Given the description of an element on the screen output the (x, y) to click on. 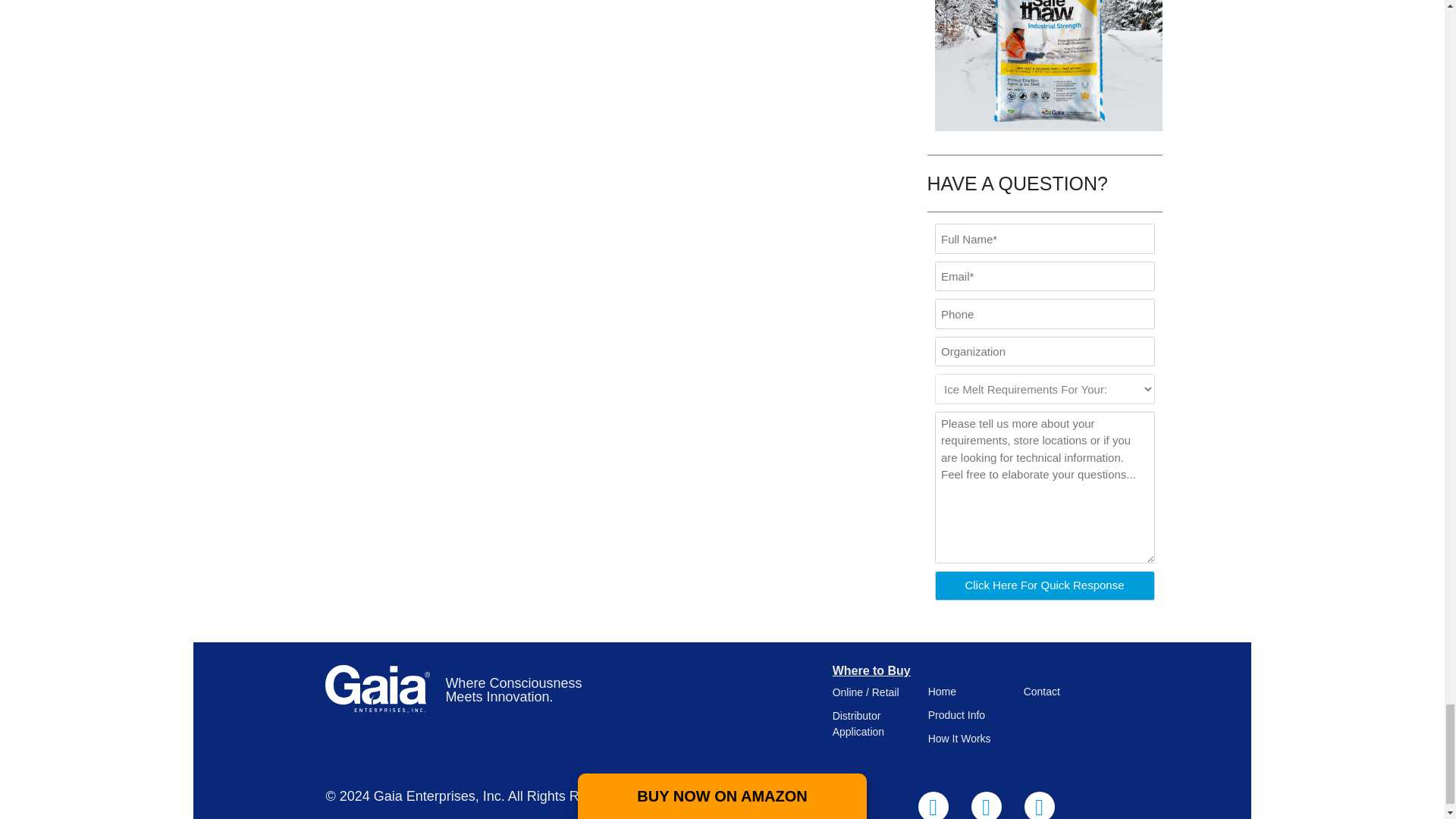
Click Here For Quick Response (1044, 585)
